Given the description of an element on the screen output the (x, y) to click on. 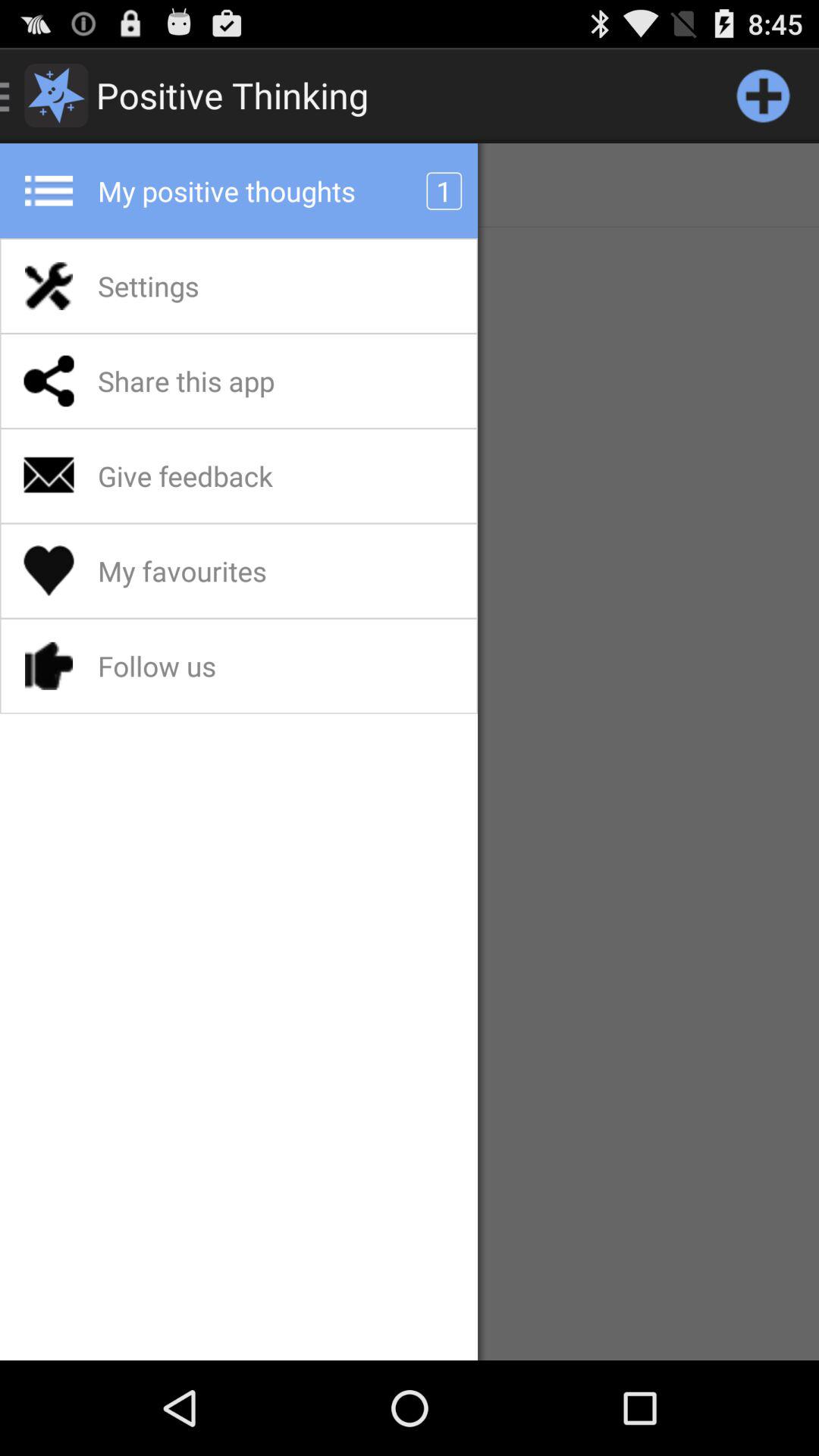
flip to the share this app app (225, 380)
